Given the description of an element on the screen output the (x, y) to click on. 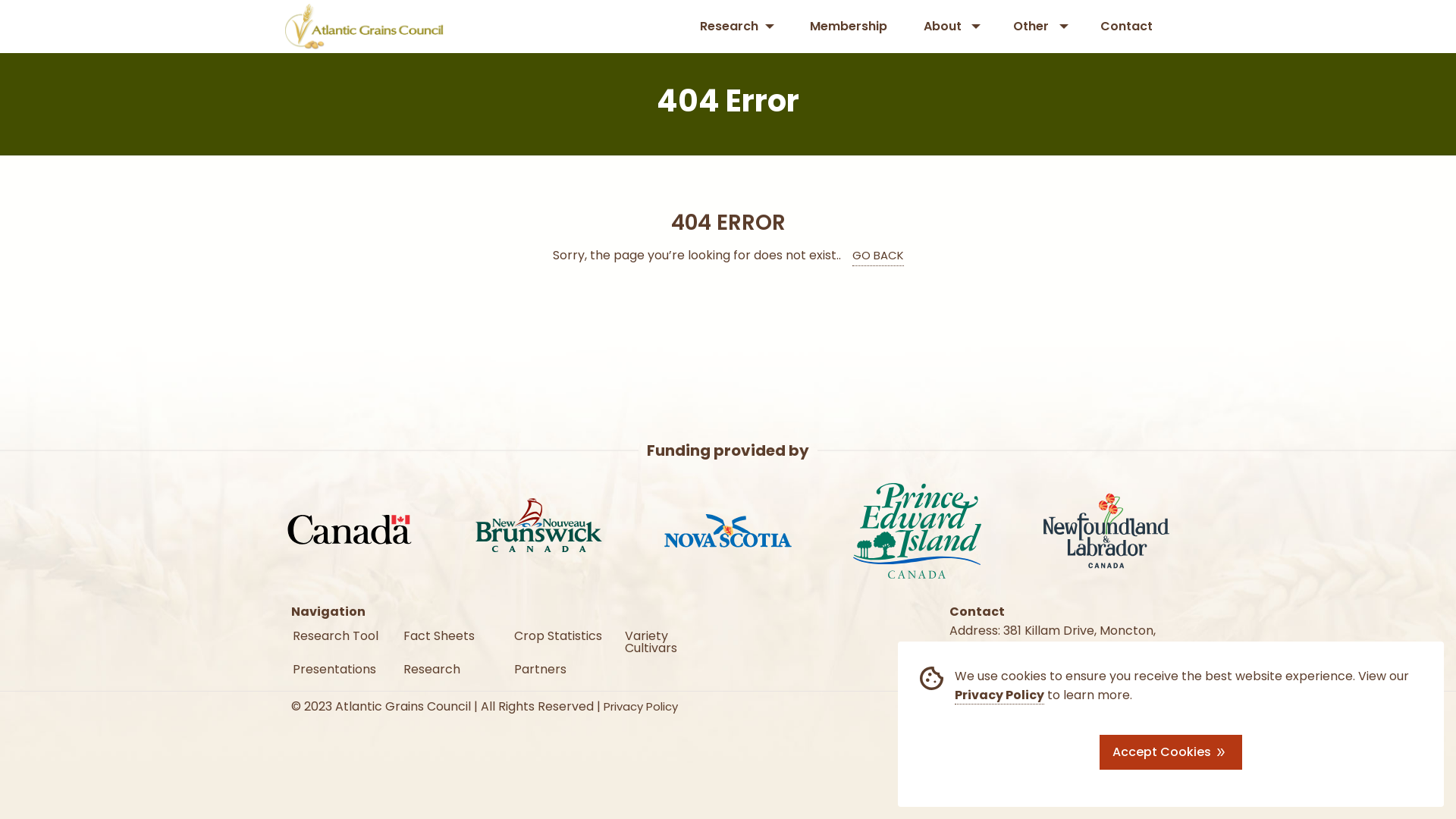
Toggle menu Element type: text (729, 26)
Partners Element type: text (561, 664)
GO BACK Element type: text (877, 256)
Toggle menu Element type: text (1032, 26)
About Element type: text (942, 26)
Other Element type: text (1030, 26)
Fact Sheets Element type: text (450, 631)
Privacy Policy Element type: text (999, 695)
Privacy Policy Element type: text (640, 706)
Variety Cultivars Element type: text (672, 637)
Toggle menu Element type: text (943, 26)
Presentations Element type: text (340, 664)
Research Element type: text (728, 26)
Research Tool Element type: text (340, 631)
Contact Element type: text (1126, 26)
Research Element type: text (450, 664)
Membership Element type: text (848, 26)
Crop Statistics Element type: text (561, 631)
Accept Cookies Element type: text (1170, 751)
